Given the description of an element on the screen output the (x, y) to click on. 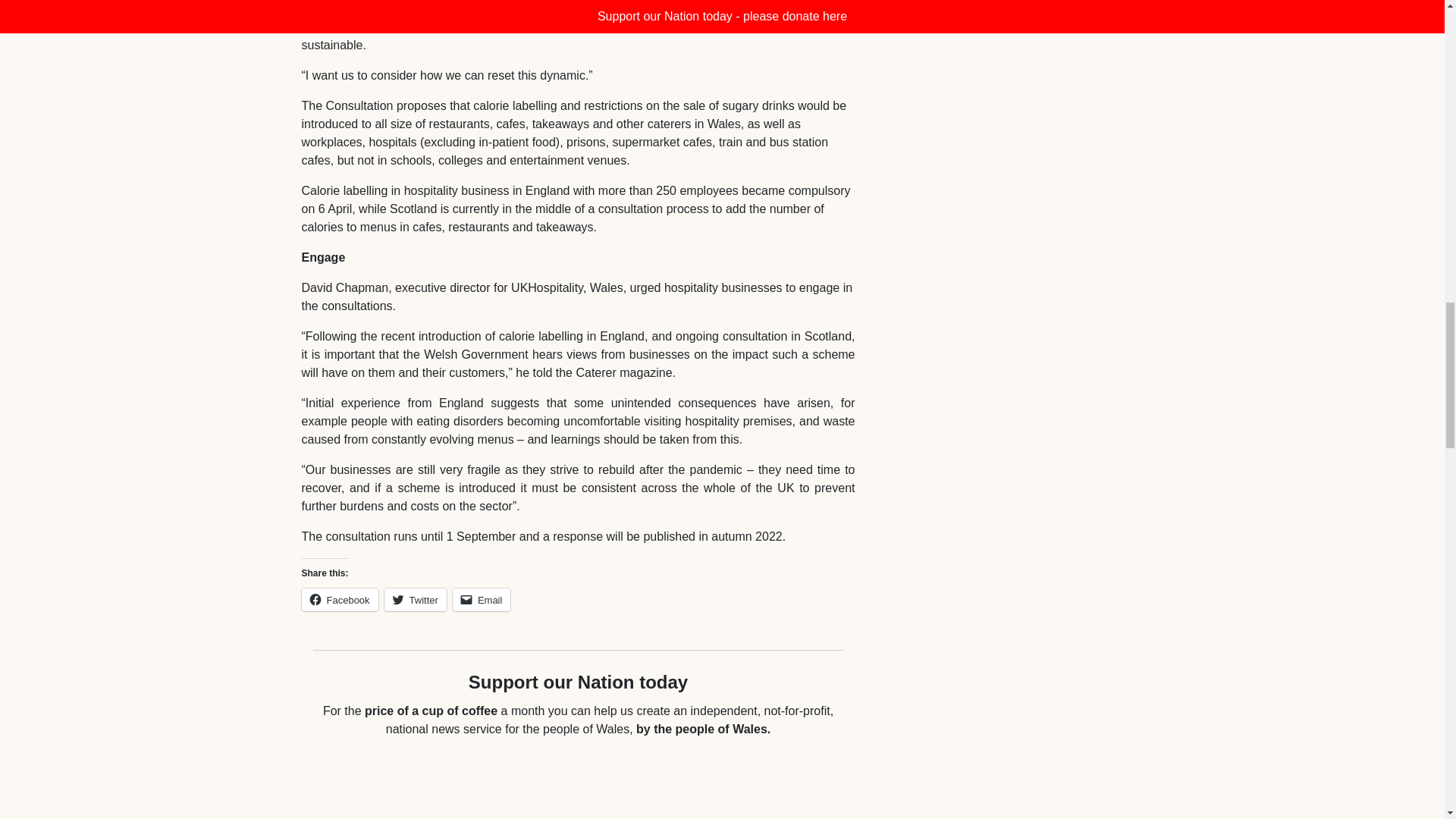
Email (481, 599)
Click to email a link to a friend (481, 599)
Facebook (339, 599)
Click to share on Twitter (415, 599)
Click to share on Facebook (339, 599)
Twitter (415, 599)
